Given the description of an element on the screen output the (x, y) to click on. 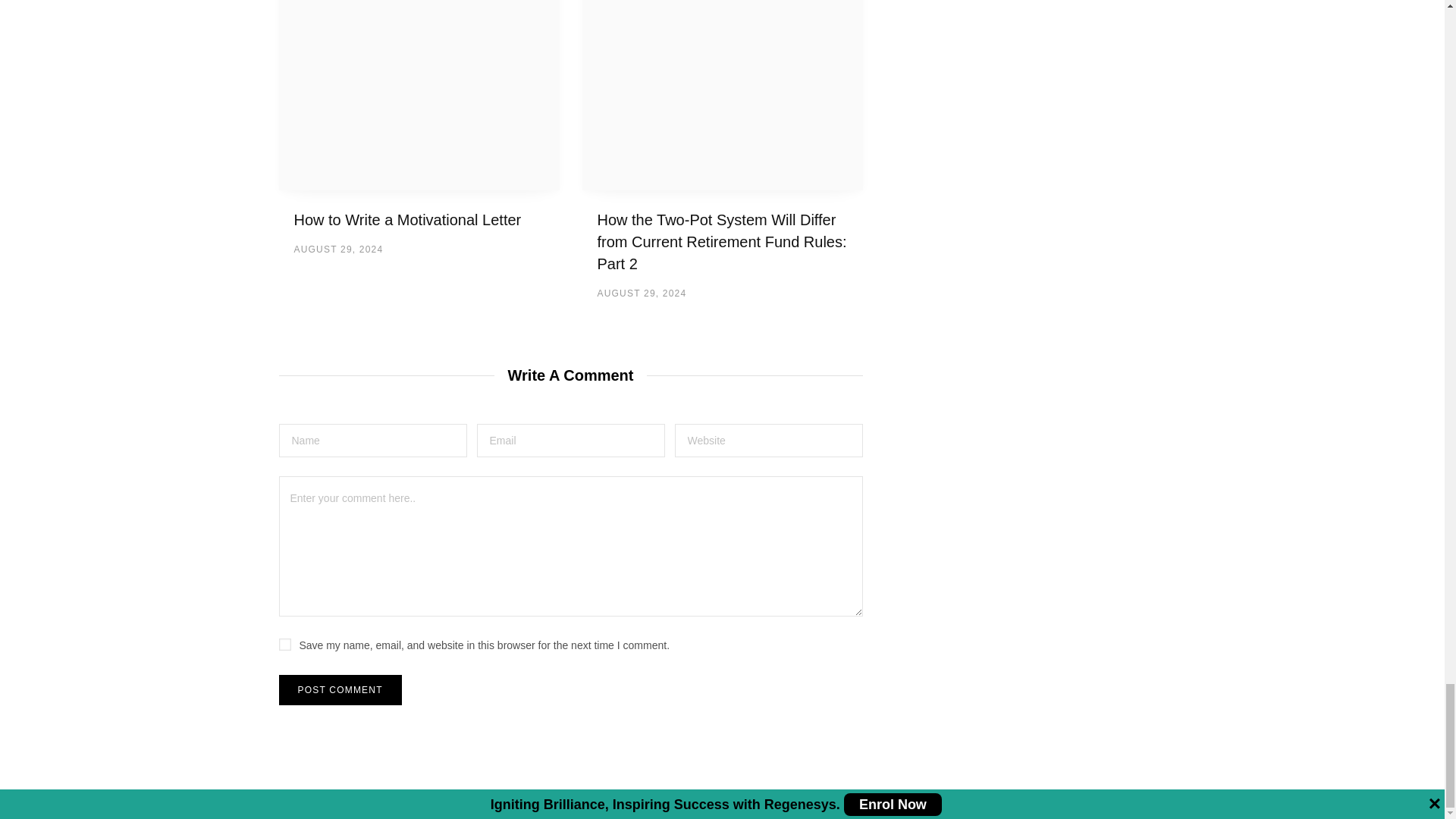
yes (285, 644)
How to Write a Motivational Letter (419, 95)
Post Comment (340, 689)
